Given the description of an element on the screen output the (x, y) to click on. 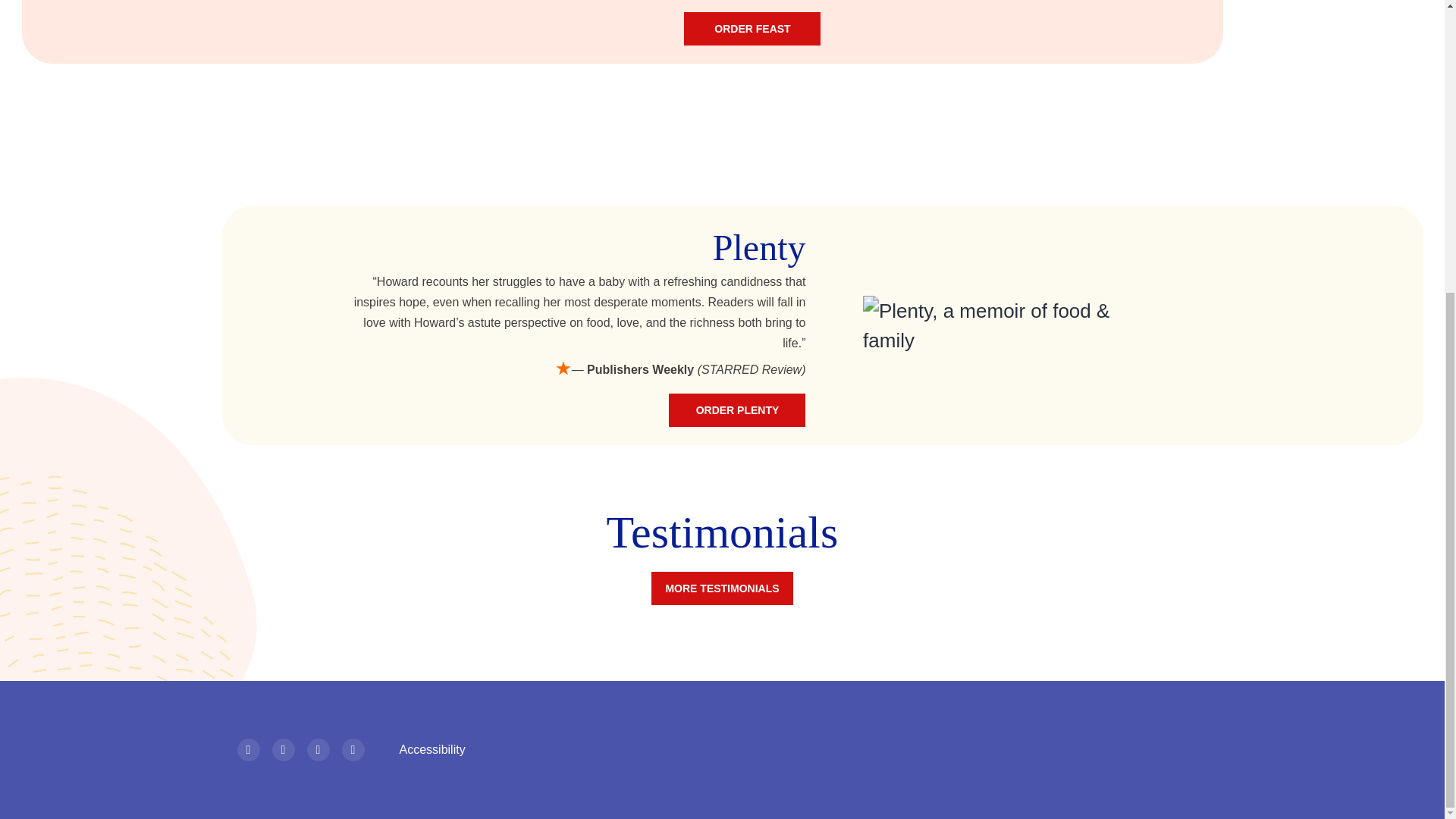
MORE TESTIMONIALS (721, 588)
Accessibility (431, 749)
ORDER PLENTY (736, 409)
ORDER FEAST (752, 28)
